Given the description of an element on the screen output the (x, y) to click on. 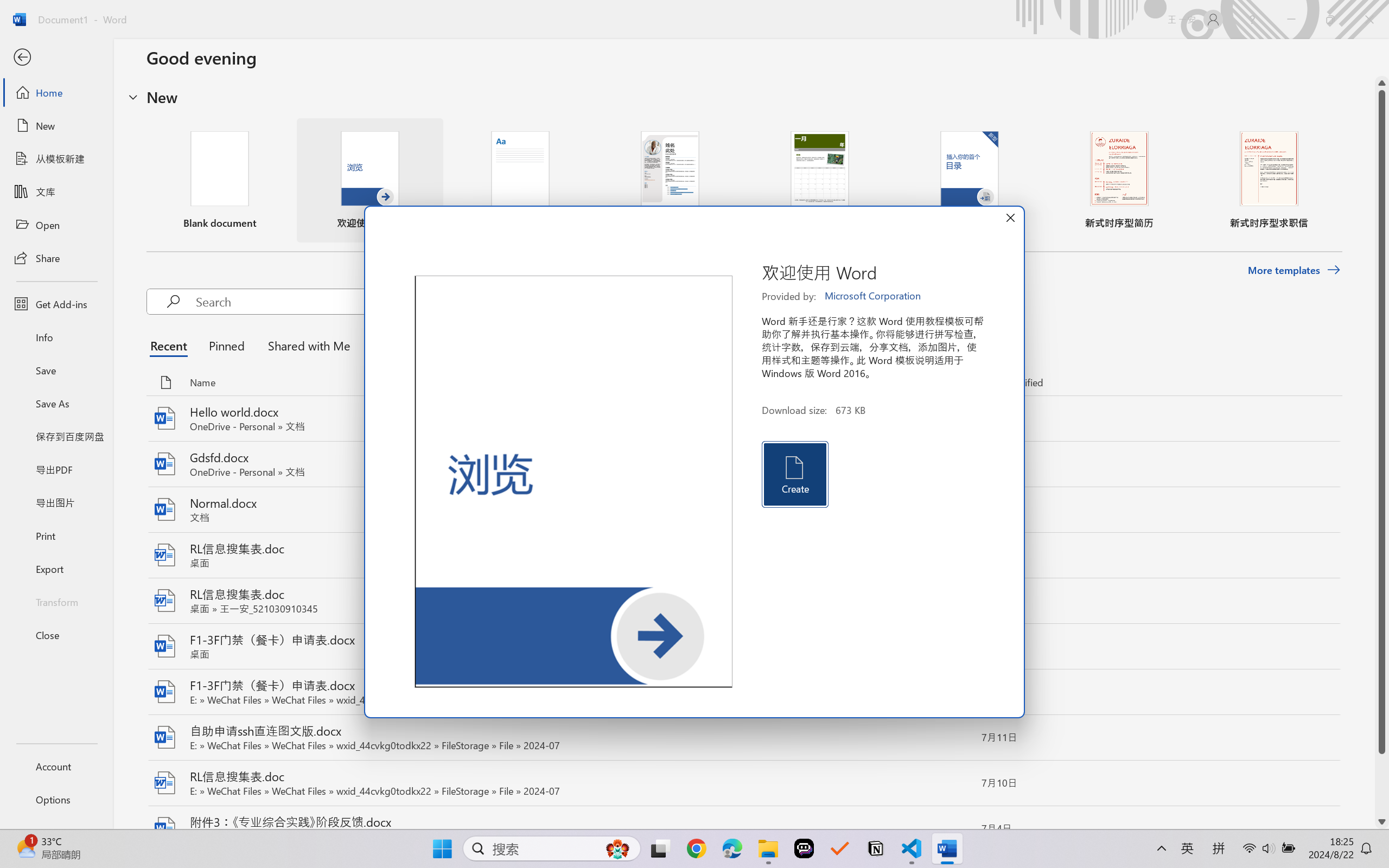
Shared with Me (305, 345)
Get Add-ins (56, 303)
Blank document (219, 180)
Options (56, 798)
Info (56, 337)
More templates (1293, 270)
Microsoft Corporation (873, 296)
